Given the description of an element on the screen output the (x, y) to click on. 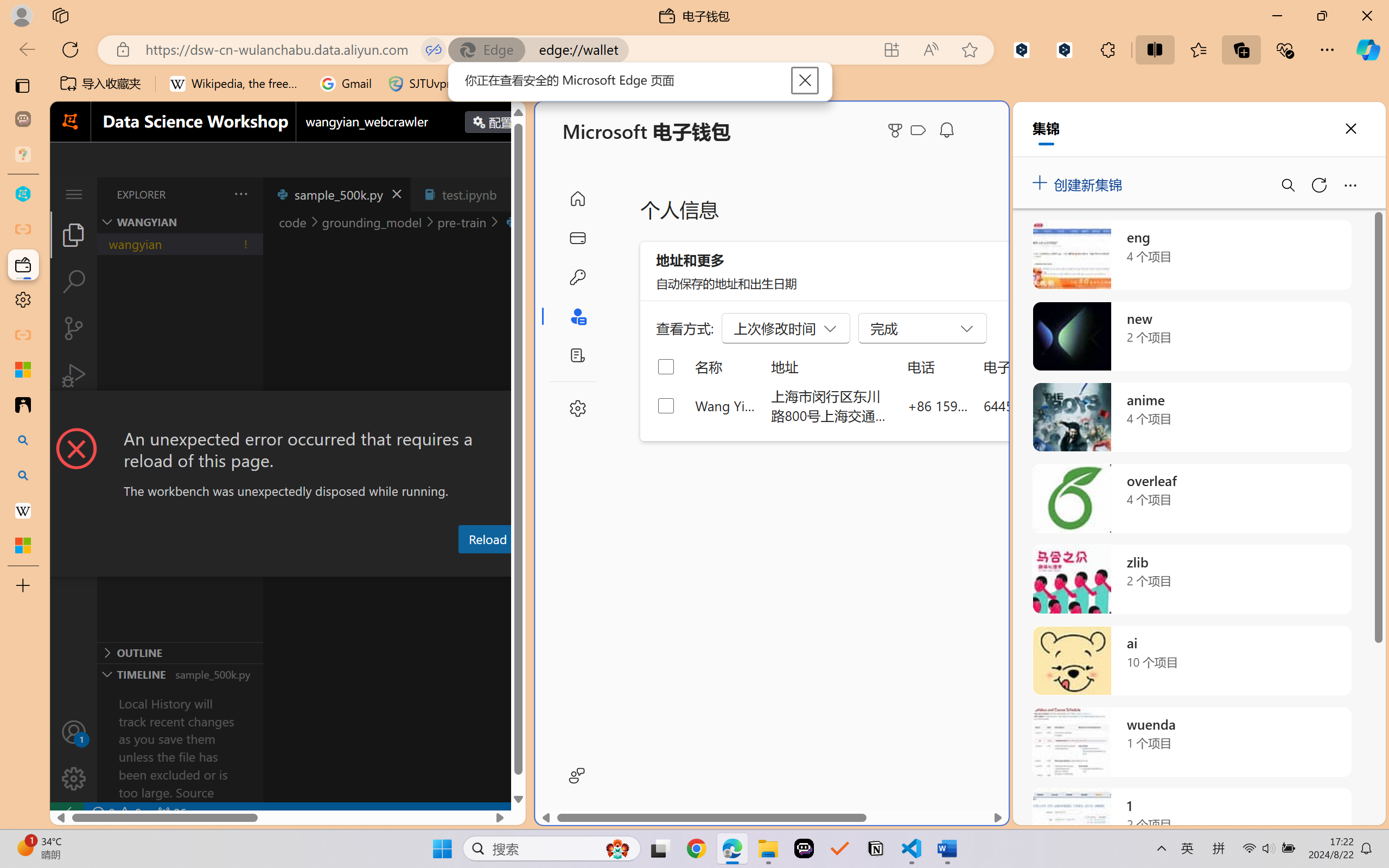
Search (Ctrl+Shift+F) (73, 281)
Google Chrome (696, 848)
Run and Debug (Ctrl+Shift+D) (73, 375)
remote (66, 812)
Microsoft Cashback (920, 130)
